Given the description of an element on the screen output the (x, y) to click on. 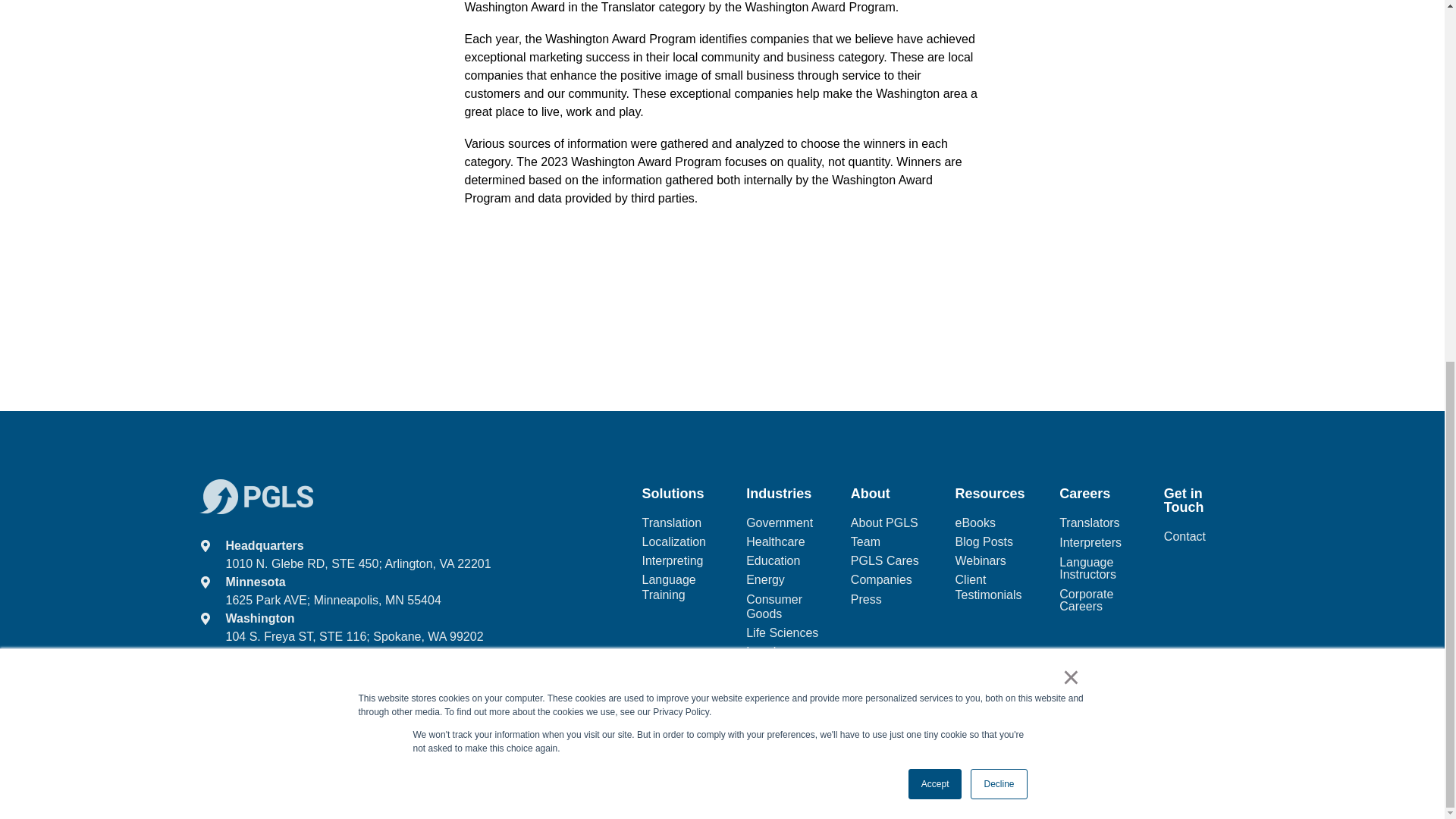
Decline (998, 141)
Accept (935, 141)
